Given the description of an element on the screen output the (x, y) to click on. 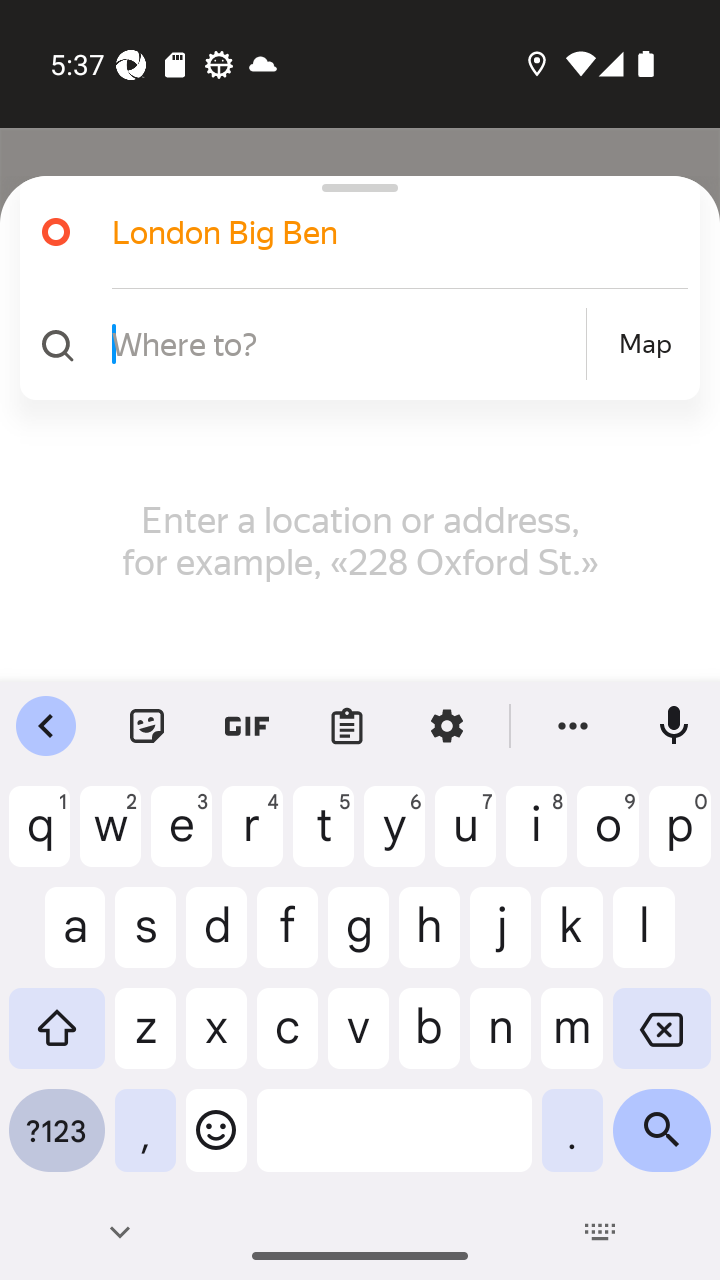
London Big Ben (352, 232)
London Big Ben (373, 232)
Where to? Map Map (352, 343)
Map (645, 343)
Where to? (346, 343)
